Given the description of an element on the screen output the (x, y) to click on. 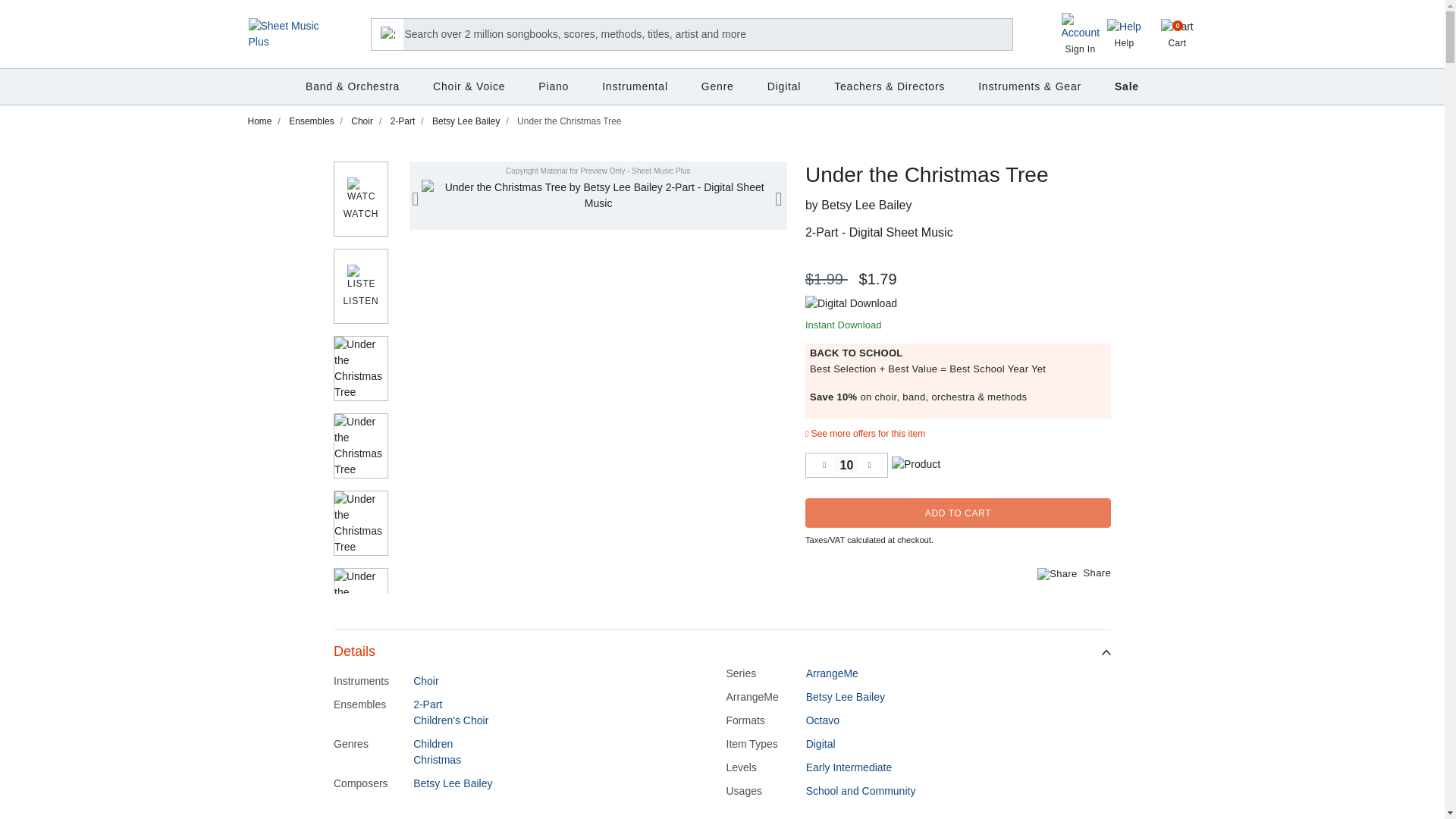
Sign In (1080, 37)
Sheet Music Plus Home (284, 33)
10 (846, 465)
Under the Christmas Tree (599, 195)
Cart 0 Items (1177, 33)
Help (1123, 34)
